Given the description of an element on the screen output the (x, y) to click on. 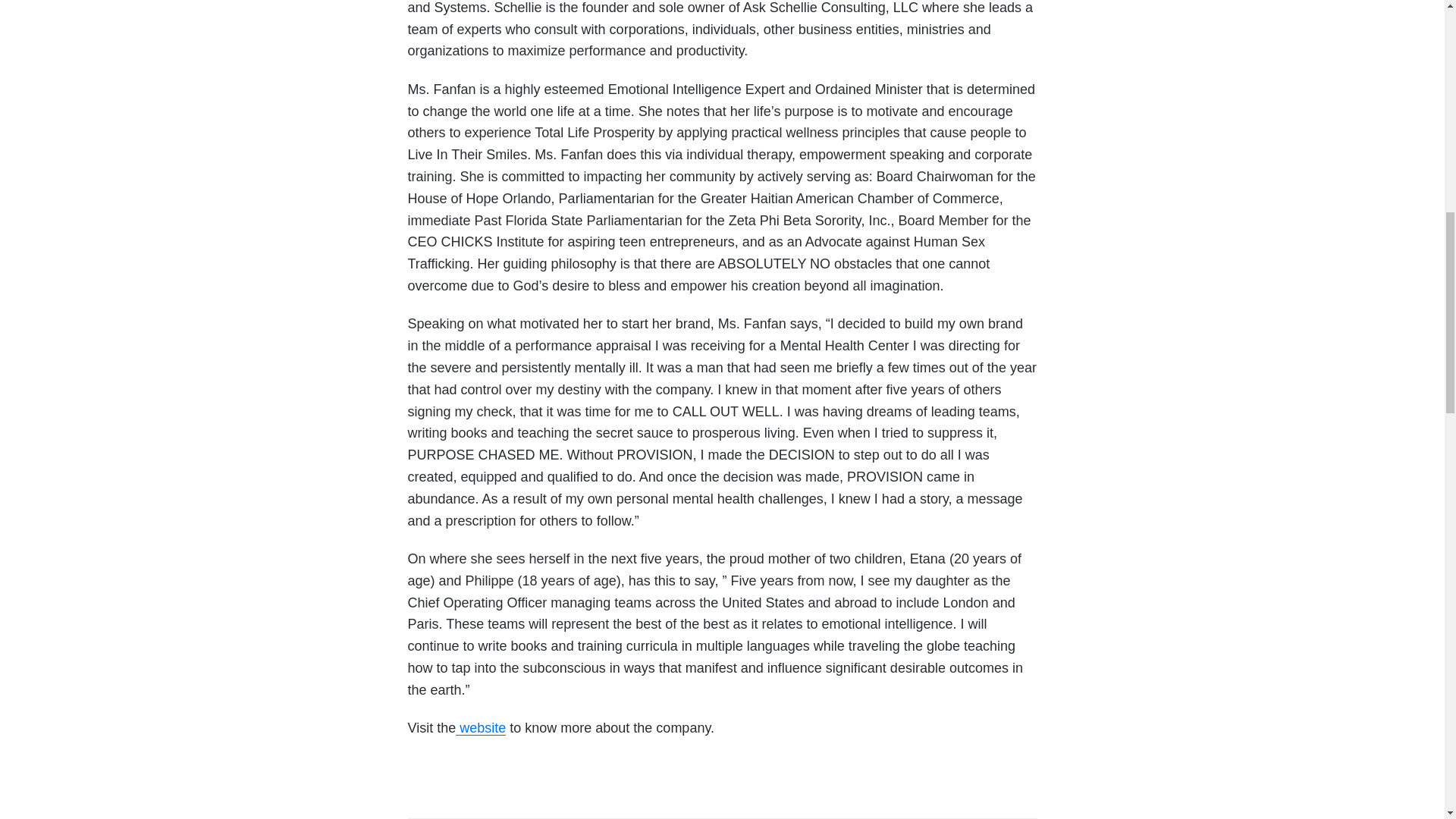
website (480, 727)
